Given the description of an element on the screen output the (x, y) to click on. 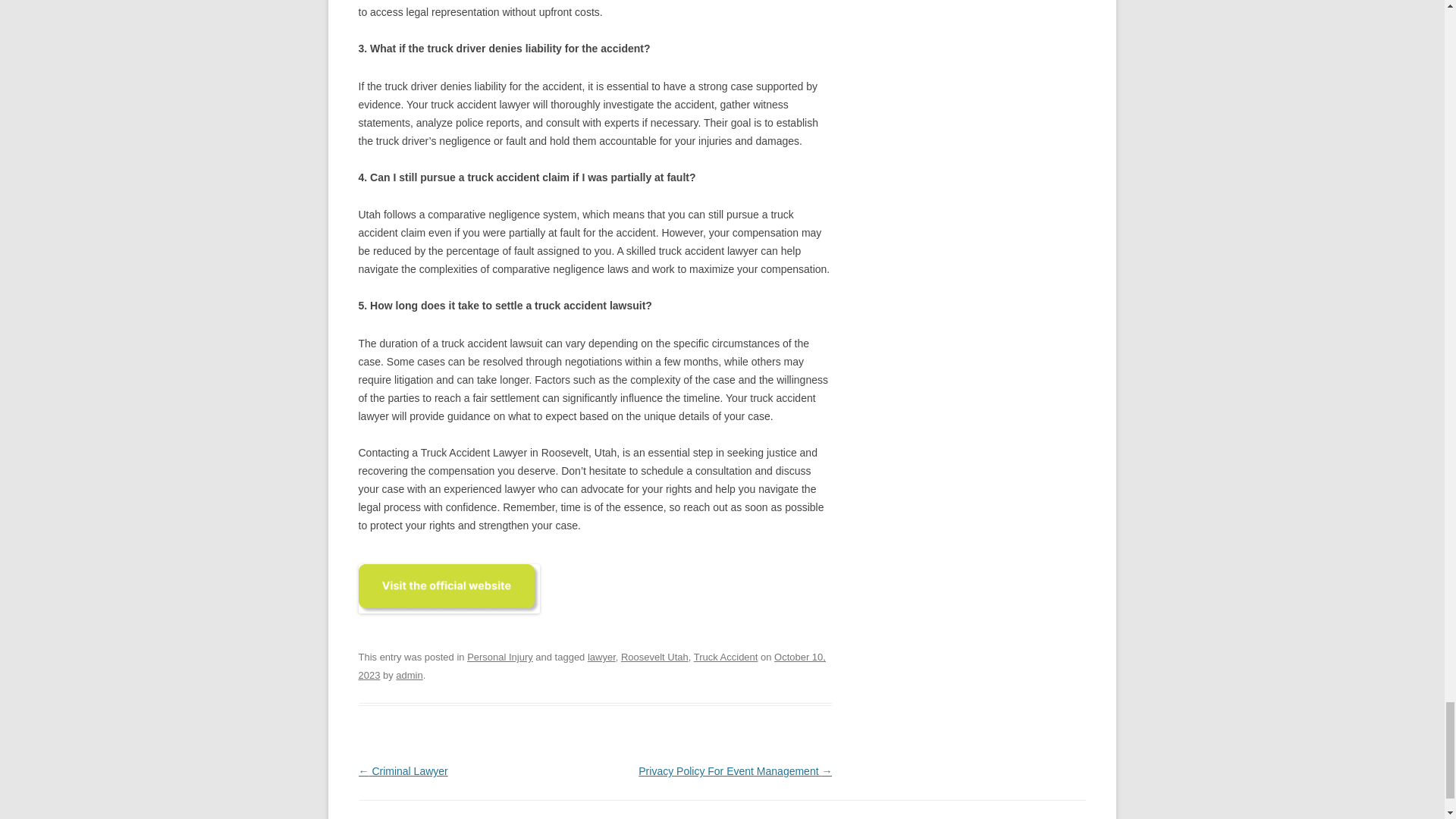
View all posts by admin (409, 674)
Roosevelt Utah (654, 656)
Personal Injury (499, 656)
lawyer (601, 656)
Truck Accident (726, 656)
10:52 am (591, 665)
admin (409, 674)
October 10, 2023 (591, 665)
